Given the description of an element on the screen output the (x, y) to click on. 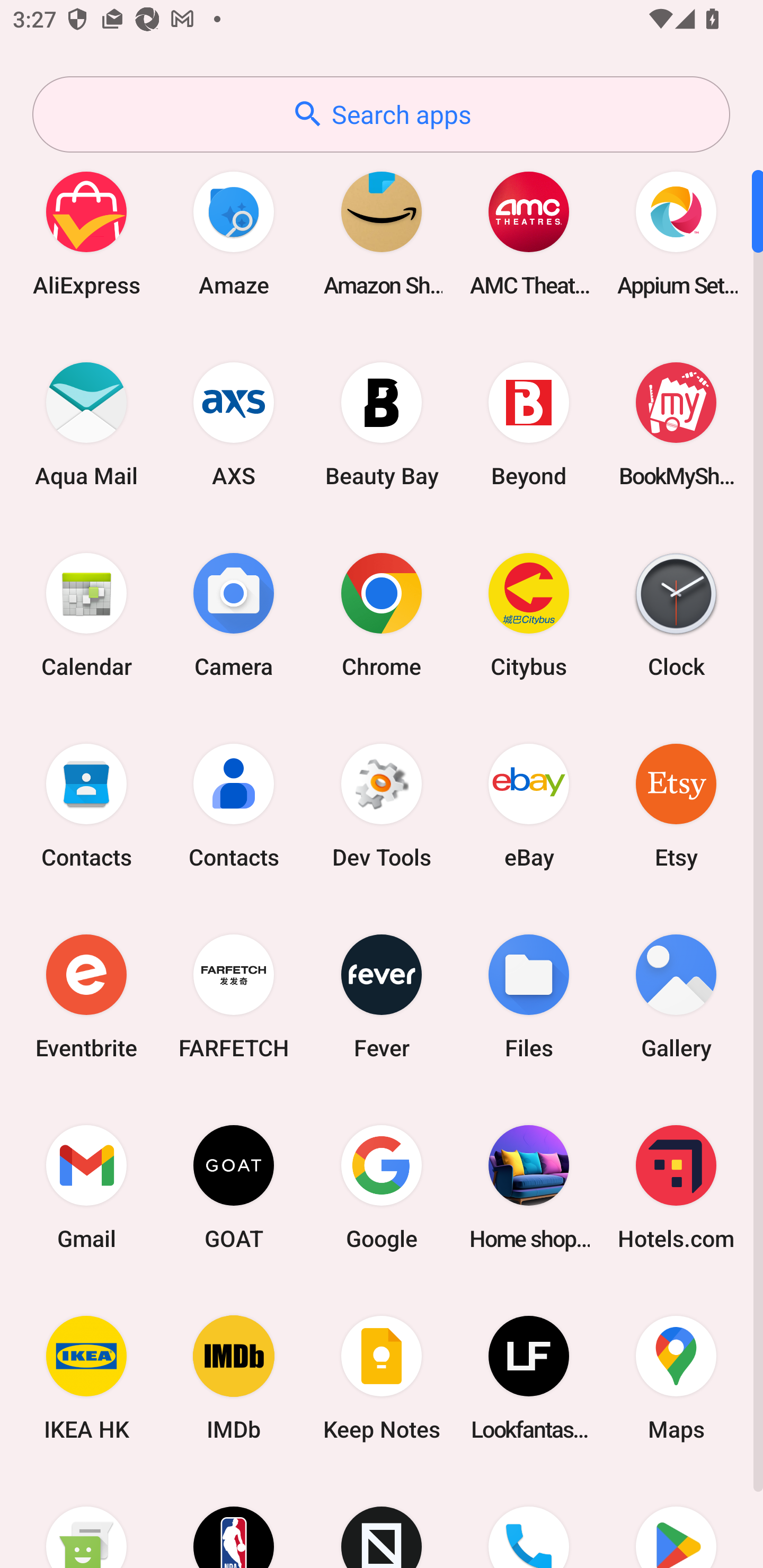
  Search apps (381, 114)
AliExpress (86, 233)
Amaze (233, 233)
Amazon Shopping (381, 233)
AMC Theatres (528, 233)
Appium Settings (676, 233)
Aqua Mail (86, 424)
AXS (233, 424)
Beauty Bay (381, 424)
Beyond (528, 424)
BookMyShow (676, 424)
Calendar (86, 614)
Camera (233, 614)
Chrome (381, 614)
Citybus (528, 614)
Clock (676, 614)
Contacts (86, 805)
Contacts (233, 805)
Dev Tools (381, 805)
eBay (528, 805)
Etsy (676, 805)
Eventbrite (86, 996)
FARFETCH (233, 996)
Fever (381, 996)
Files (528, 996)
Gallery (676, 996)
Gmail (86, 1186)
GOAT (233, 1186)
Google (381, 1186)
Home shopping (528, 1186)
Hotels.com (676, 1186)
IKEA HK (86, 1377)
IMDb (233, 1377)
Keep Notes (381, 1377)
Lookfantastic (528, 1377)
Maps (676, 1377)
